Given the description of an element on the screen output the (x, y) to click on. 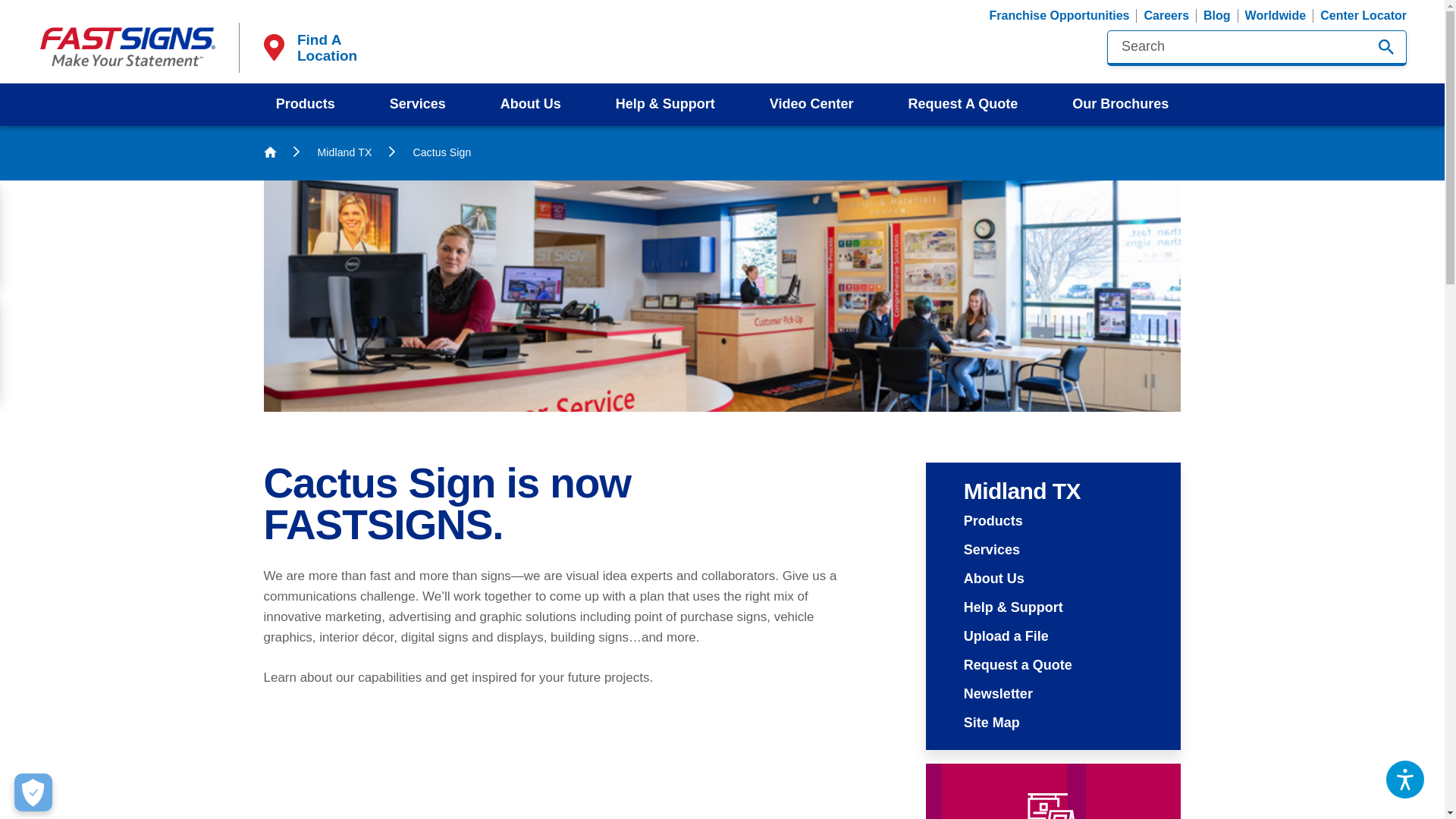
Find A Location (307, 47)
Change Settings (33, 792)
